Given the description of an element on the screen output the (x, y) to click on. 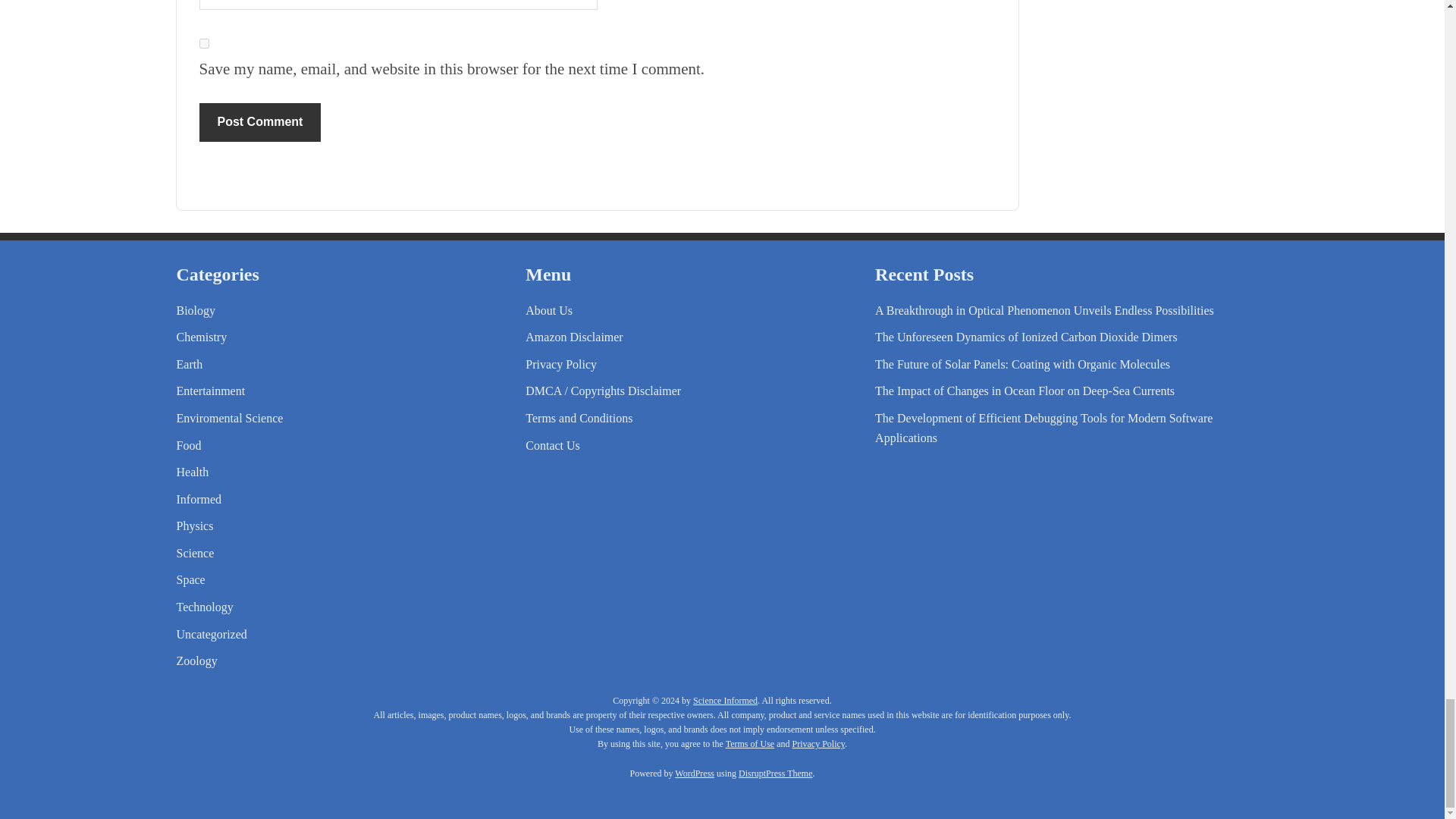
Post Comment (259, 121)
yes (203, 43)
